Given the description of an element on the screen output the (x, y) to click on. 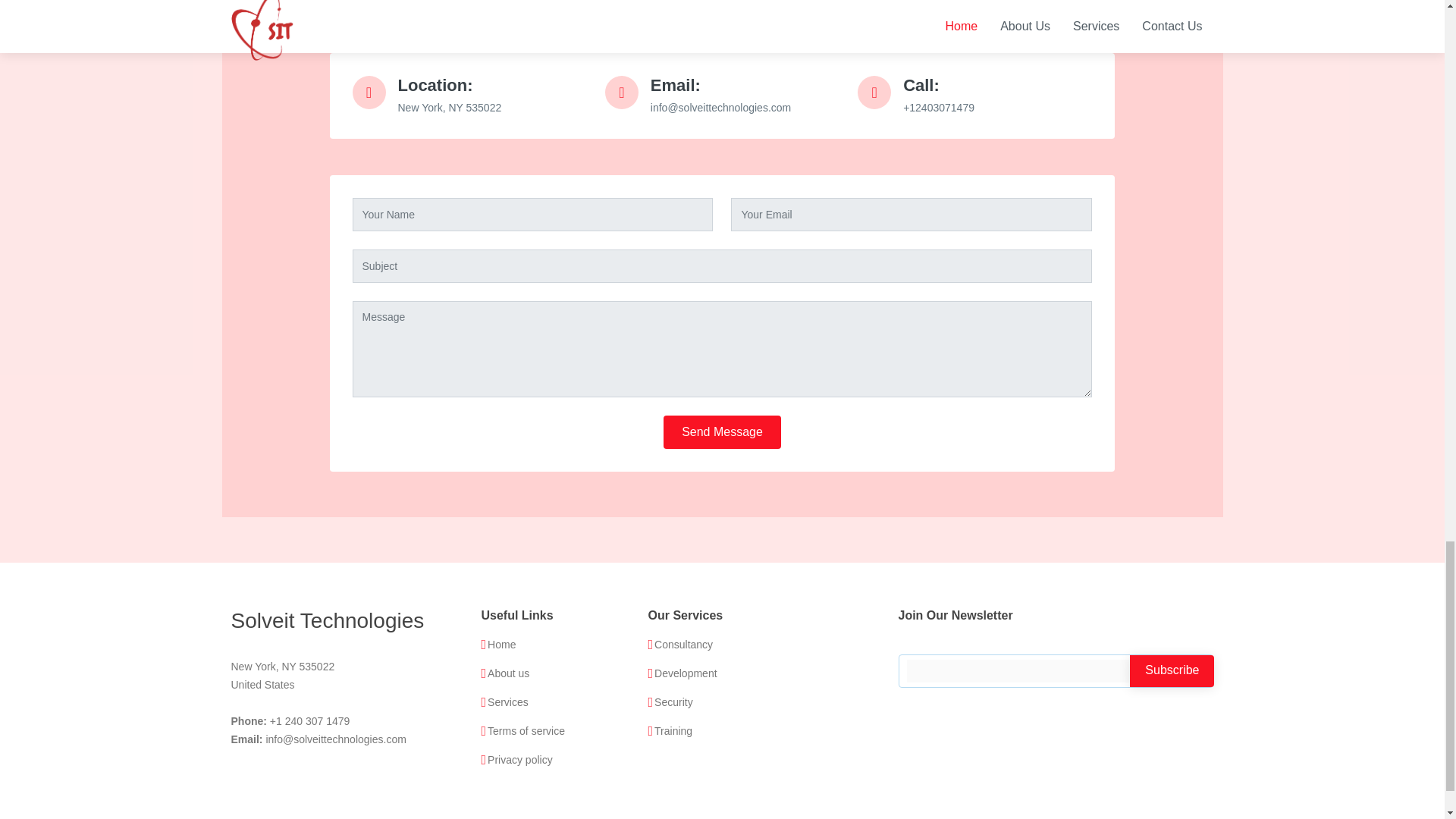
Terms of service (525, 730)
Send Message (721, 431)
Subscribe (1171, 671)
Services (507, 701)
Home (501, 644)
About us (508, 673)
Consultancy (683, 644)
Training (673, 730)
Security (673, 701)
Development (685, 673)
Subscribe (1171, 671)
Privacy policy (520, 759)
